Given the description of an element on the screen output the (x, y) to click on. 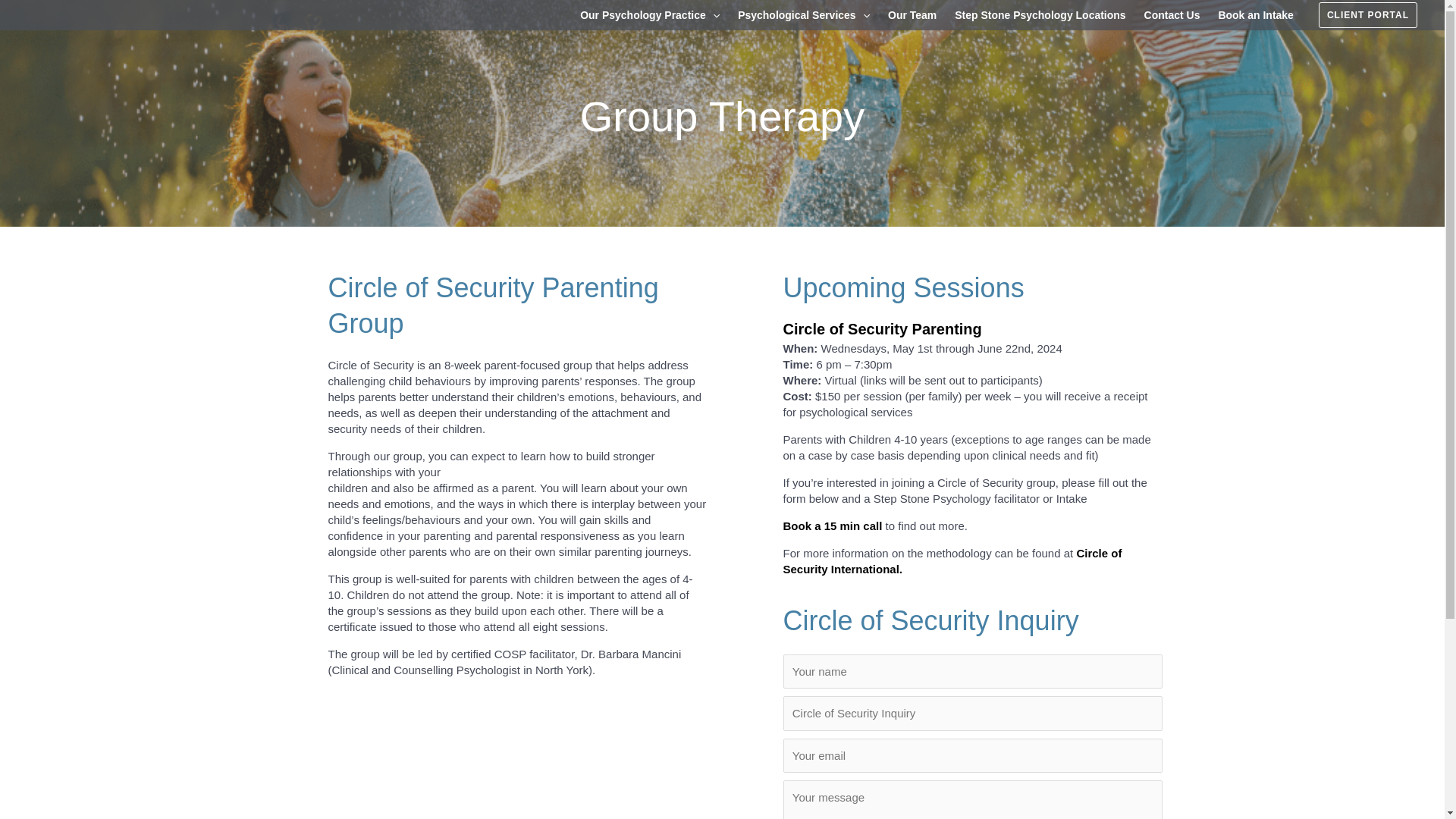
Our Team (911, 15)
Psychological Services (804, 15)
Book a 15 min call (832, 525)
Step Stone Psychology Locations (1039, 15)
CLIENT PORTAL (1367, 14)
Our Psychology Practice (649, 15)
Book an Intake (1254, 15)
Circle of Security International. (952, 561)
Contact Us (1172, 15)
